Given the description of an element on the screen output the (x, y) to click on. 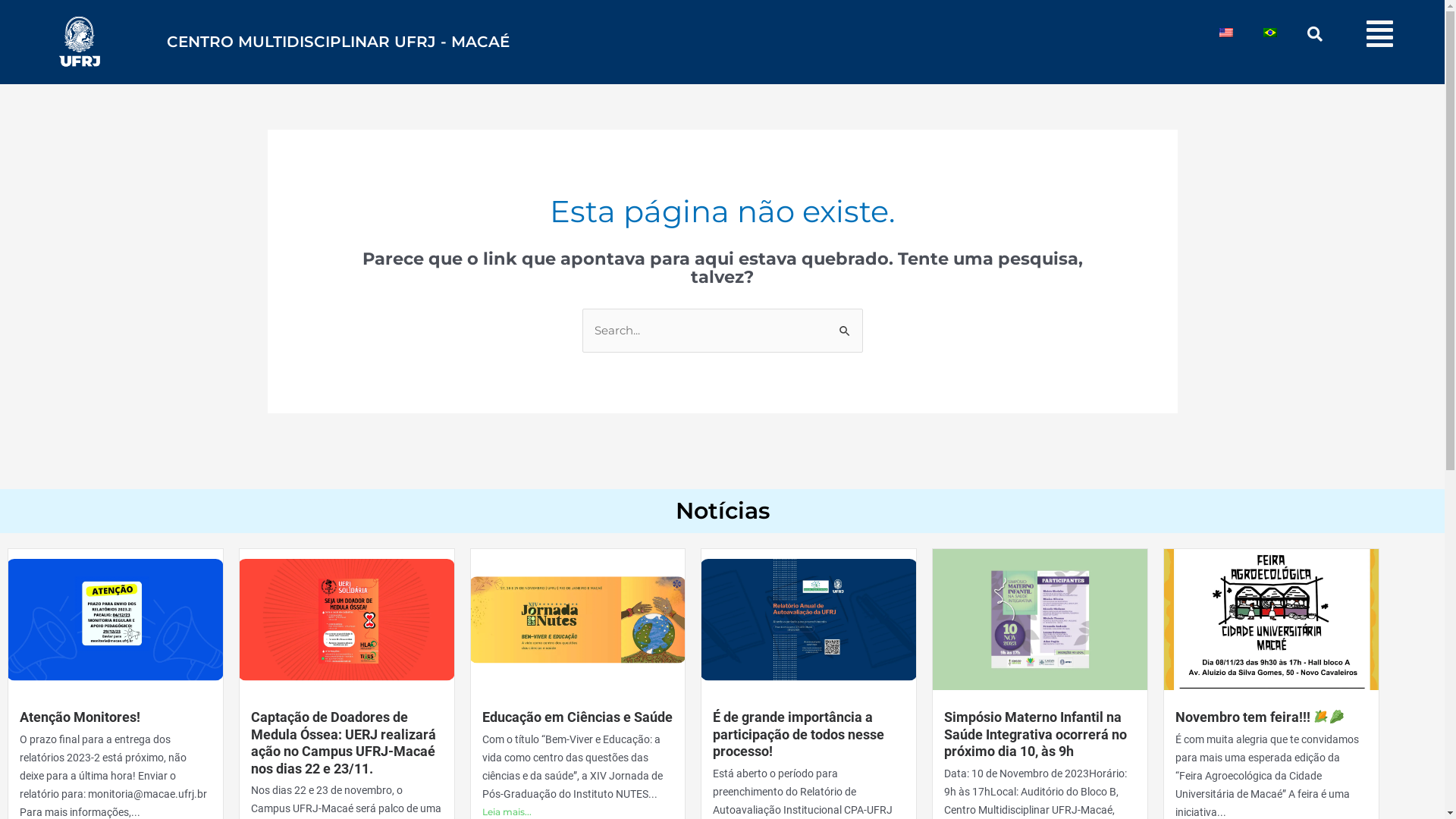
English Element type: hover (1226, 32)
Novembro tem feira!!! Element type: text (1259, 716)
Pesquisar Element type: text (845, 323)
Search Element type: hover (1295, 33)
